Given the description of an element on the screen output the (x, y) to click on. 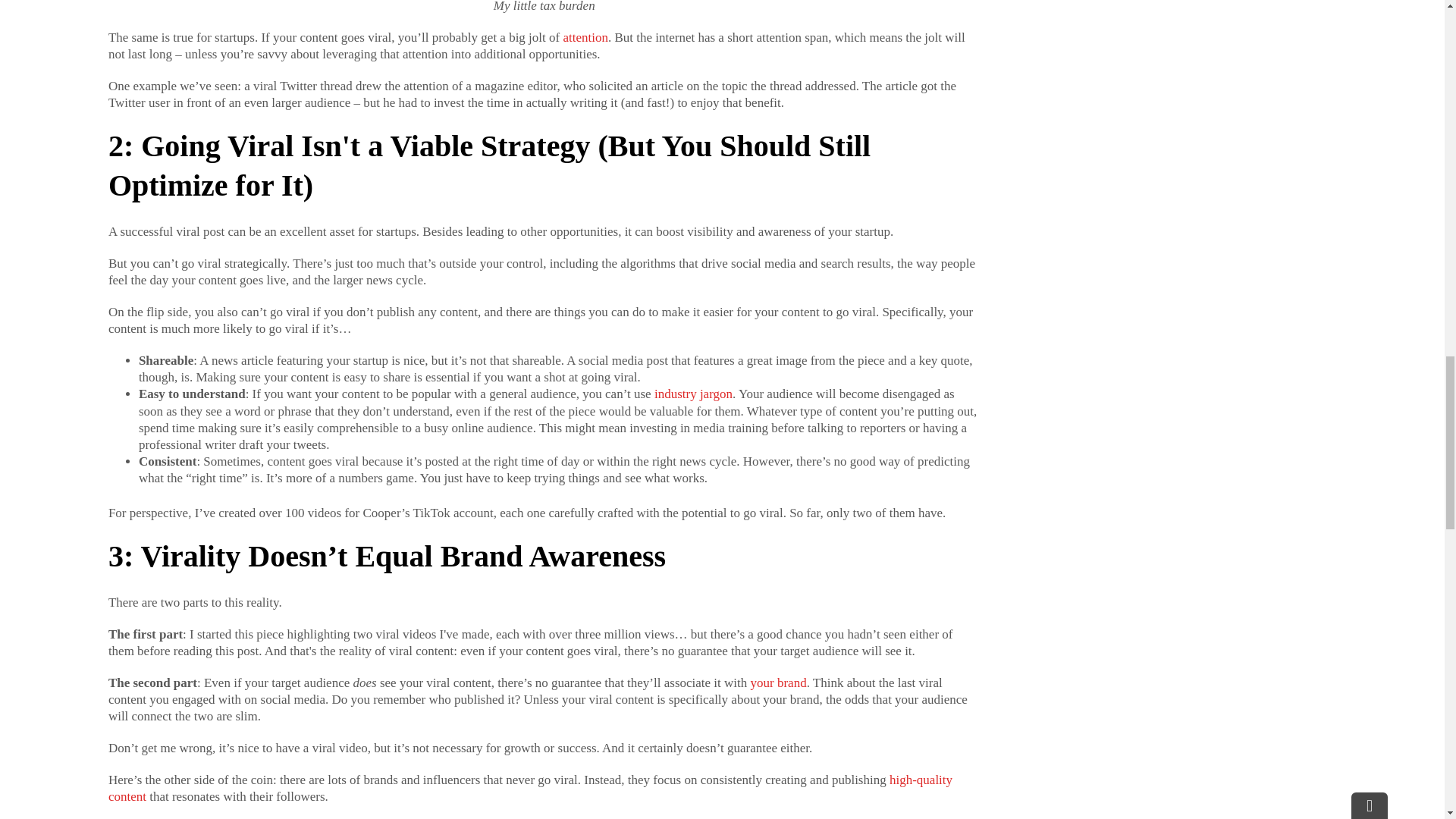
industry jargon (692, 393)
your brand (778, 682)
high-quality content (529, 788)
attention (584, 37)
